Given the description of an element on the screen output the (x, y) to click on. 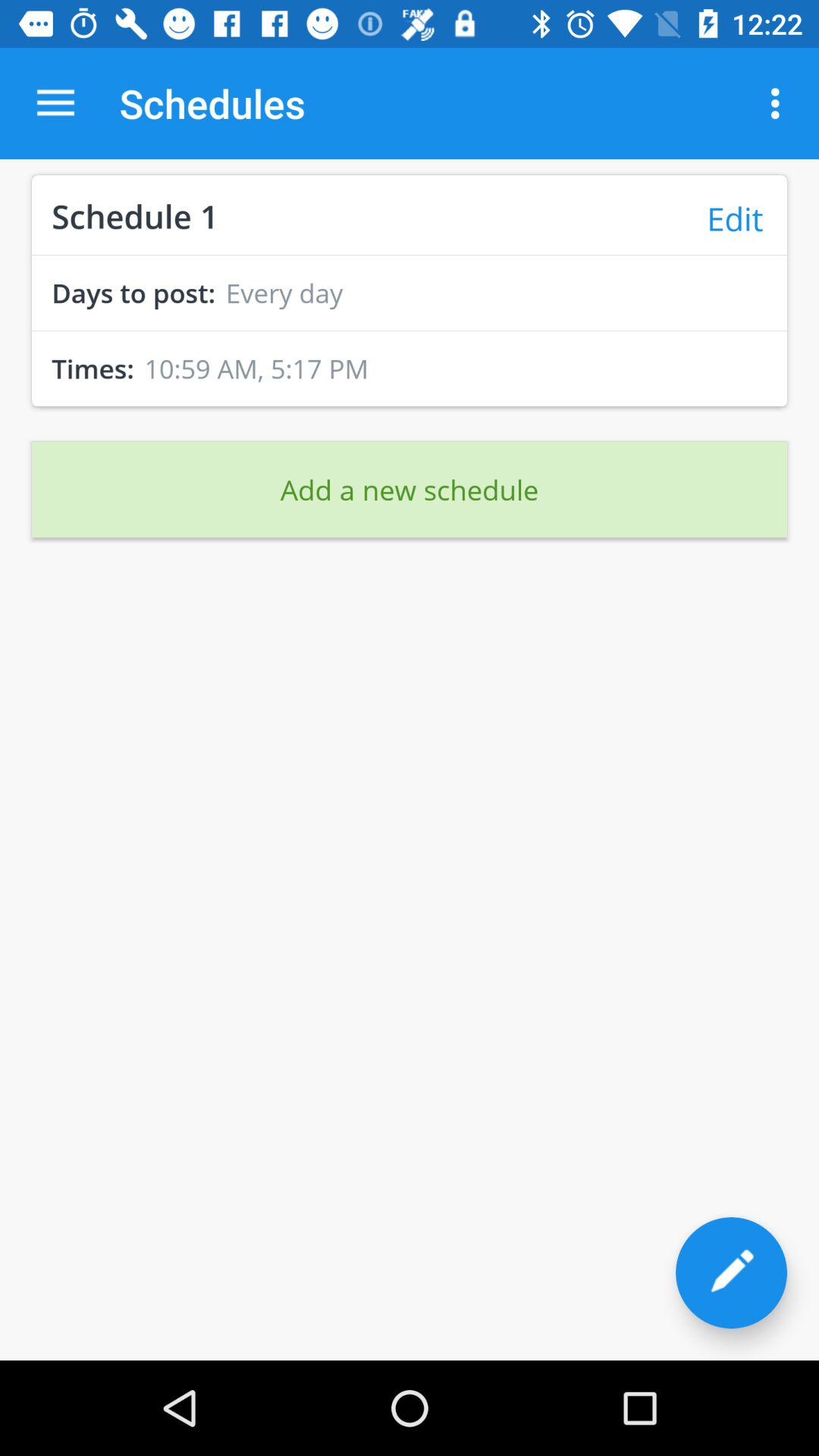
press add a new icon (409, 489)
